Given the description of an element on the screen output the (x, y) to click on. 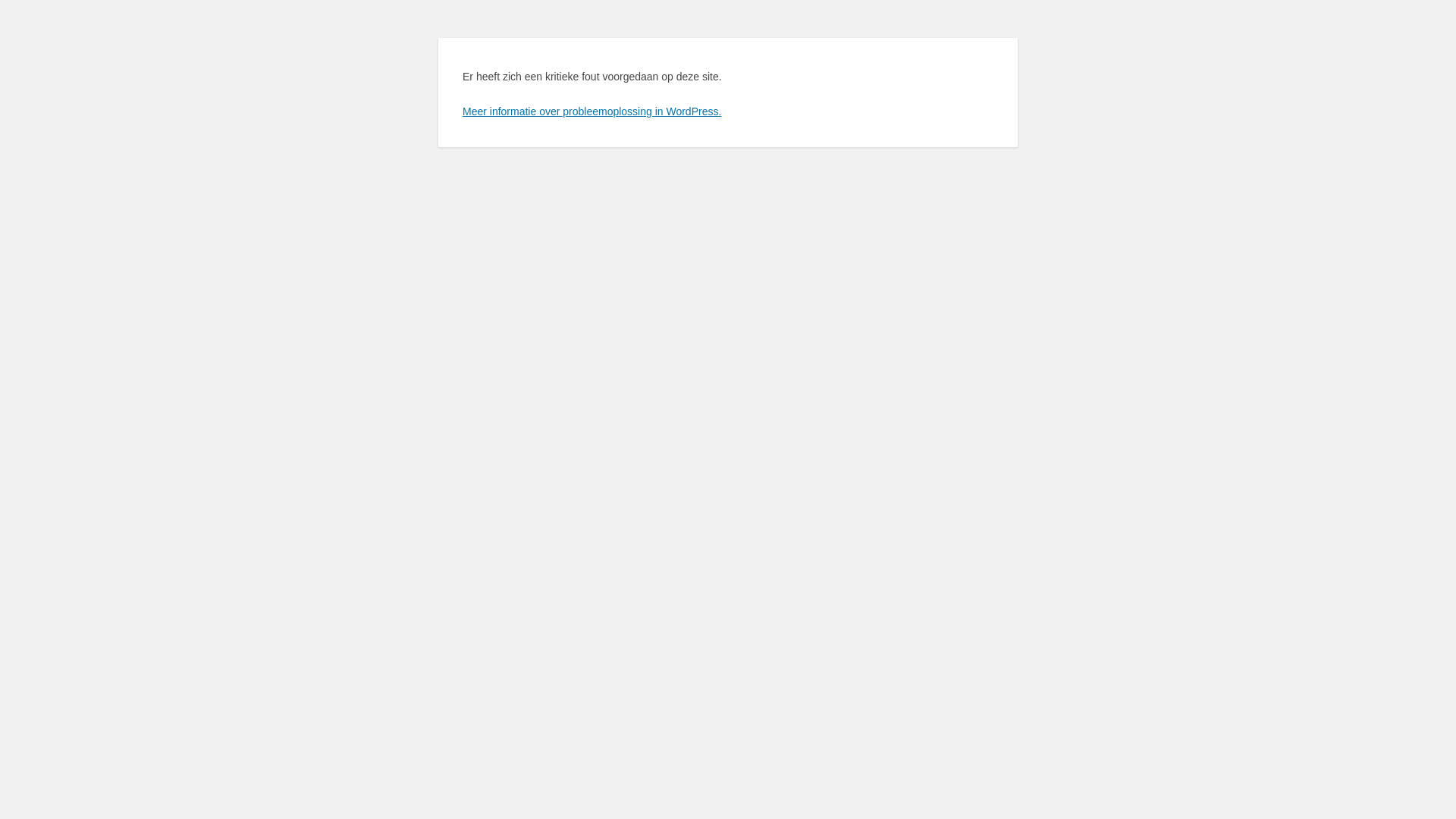
Meer informatie over probleemoplossing in WordPress. Element type: text (591, 111)
